Given the description of an element on the screen output the (x, y) to click on. 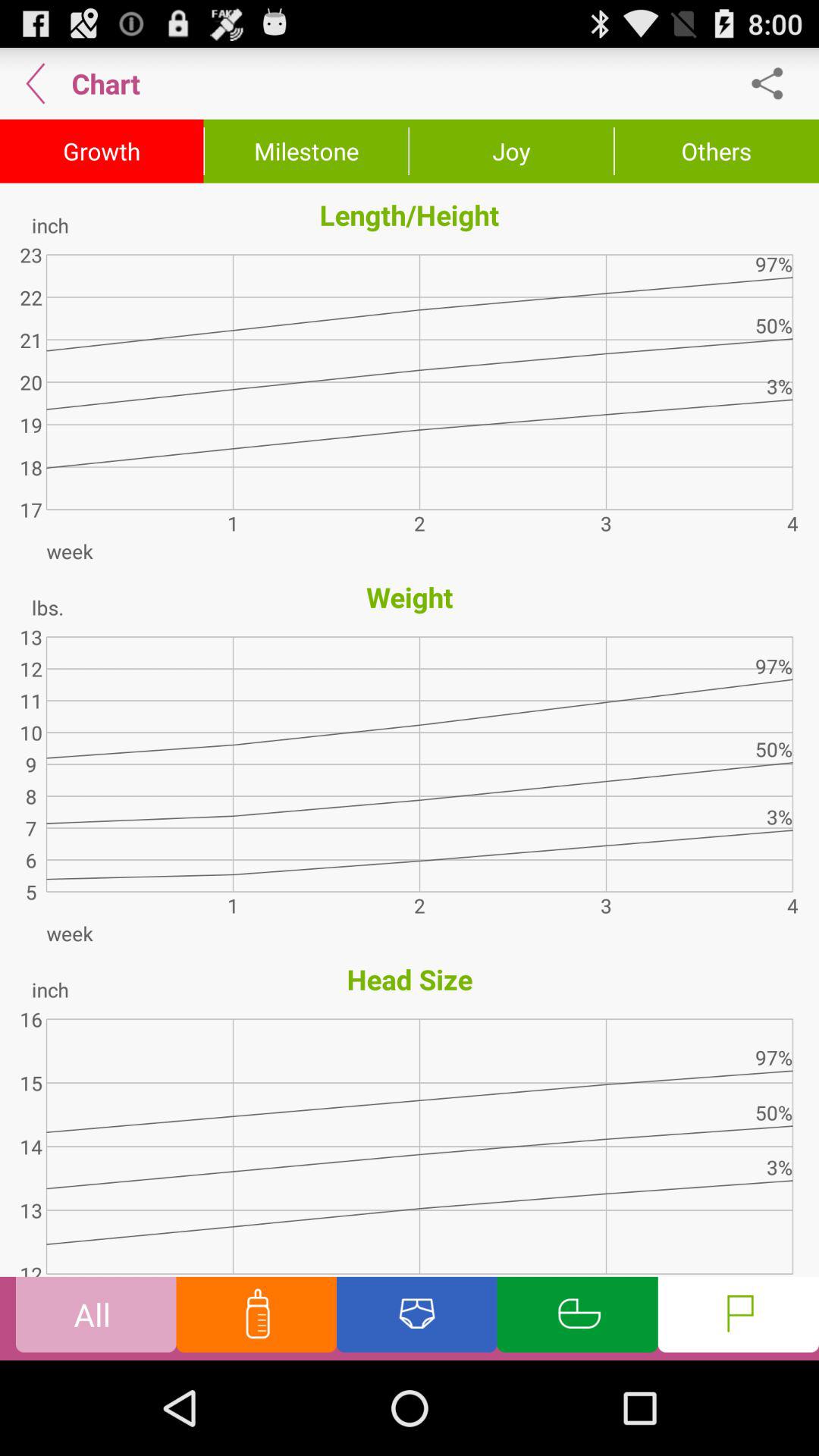
swipe until joy icon (511, 151)
